Given the description of an element on the screen output the (x, y) to click on. 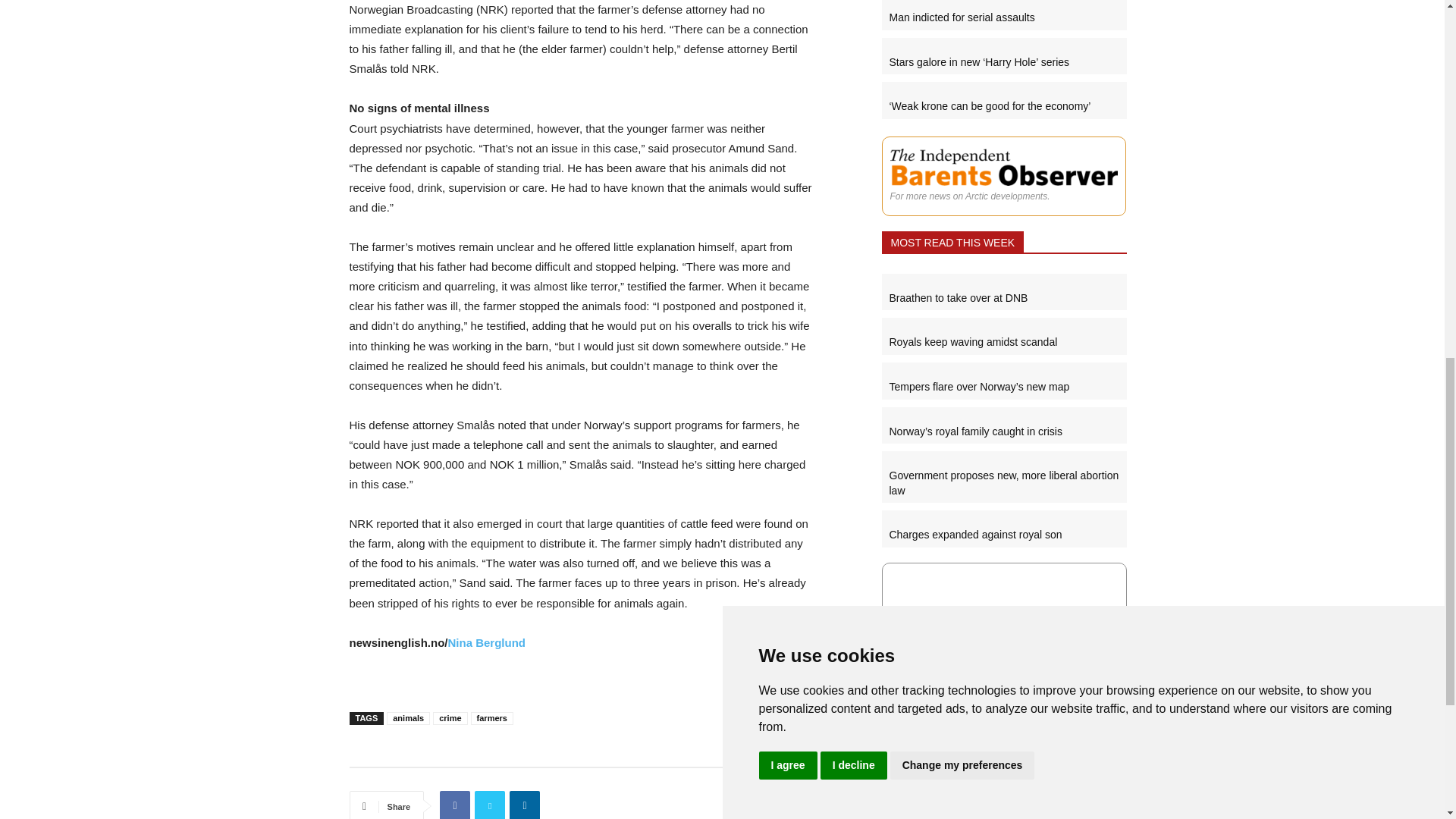
Linkedin (524, 805)
Facebook (454, 805)
Twitter (489, 805)
